Given the description of an element on the screen output the (x, y) to click on. 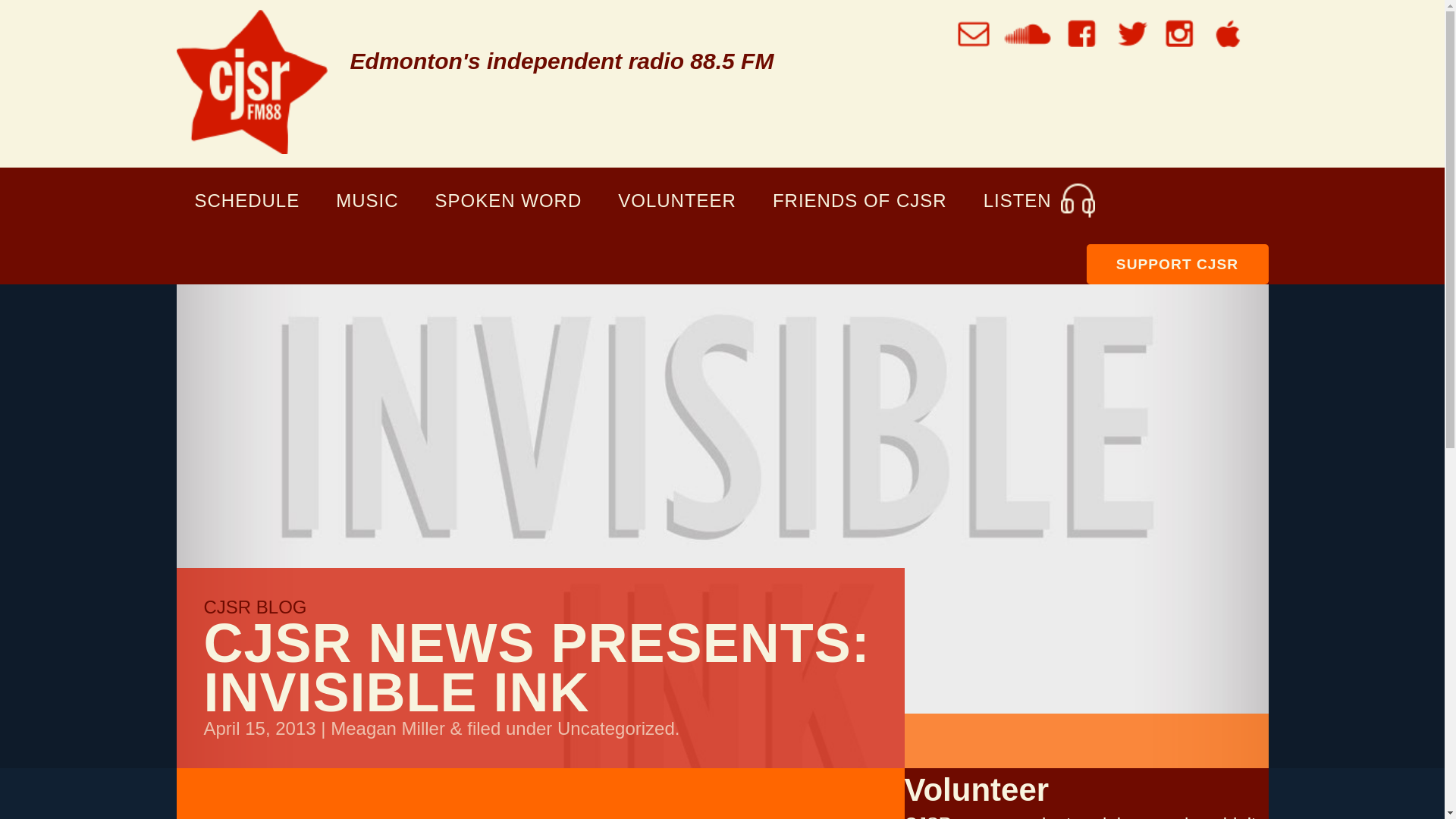
SCHEDULE (246, 200)
SPOKEN WORD (507, 200)
Facebook (1081, 33)
Posts by Meagan Miller (387, 728)
Podcasts (1228, 33)
SUPPORT CJSR (1177, 263)
Twitter (1130, 33)
CJSR (251, 81)
Email (973, 33)
VOLUNTEER (676, 200)
MUSIC (366, 200)
Uncategorized (616, 728)
LISTEN (1035, 200)
Instagram (1179, 33)
FRIENDS OF CJSR (859, 200)
